Given the description of an element on the screen output the (x, y) to click on. 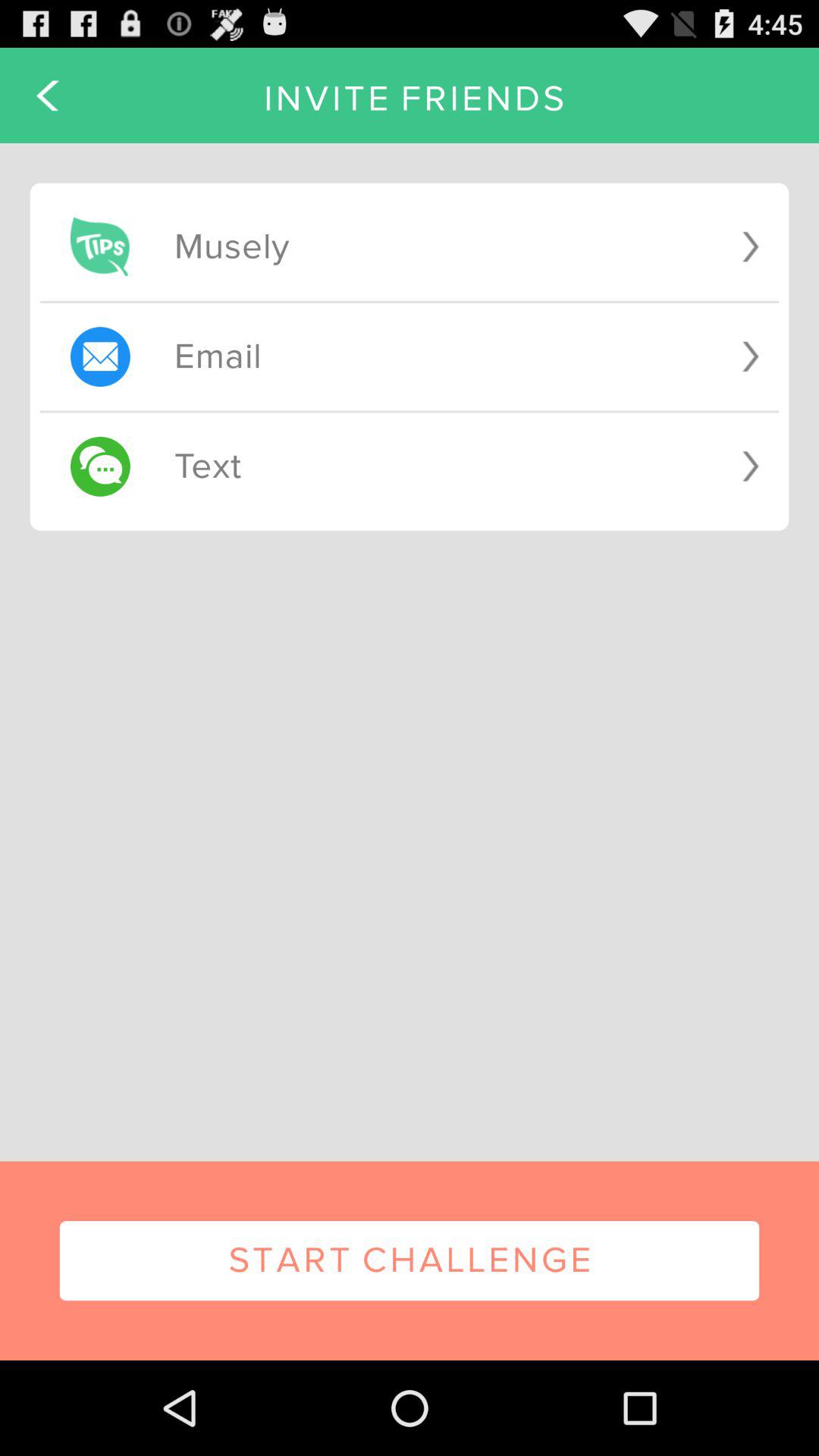
select icon at the bottom (409, 1260)
